Given the description of an element on the screen output the (x, y) to click on. 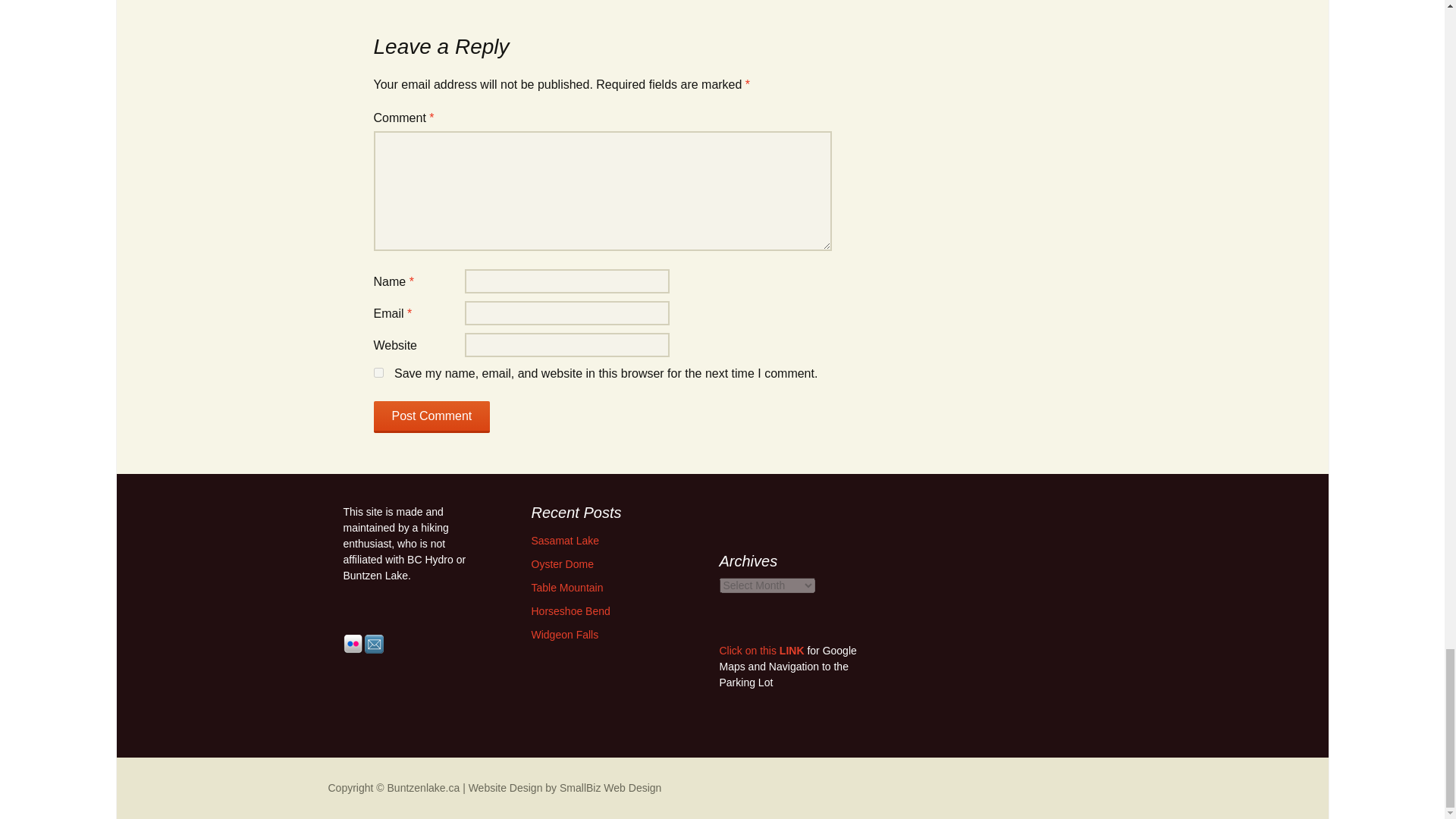
yes (377, 372)
Post Comment (430, 417)
